Given the description of an element on the screen output the (x, y) to click on. 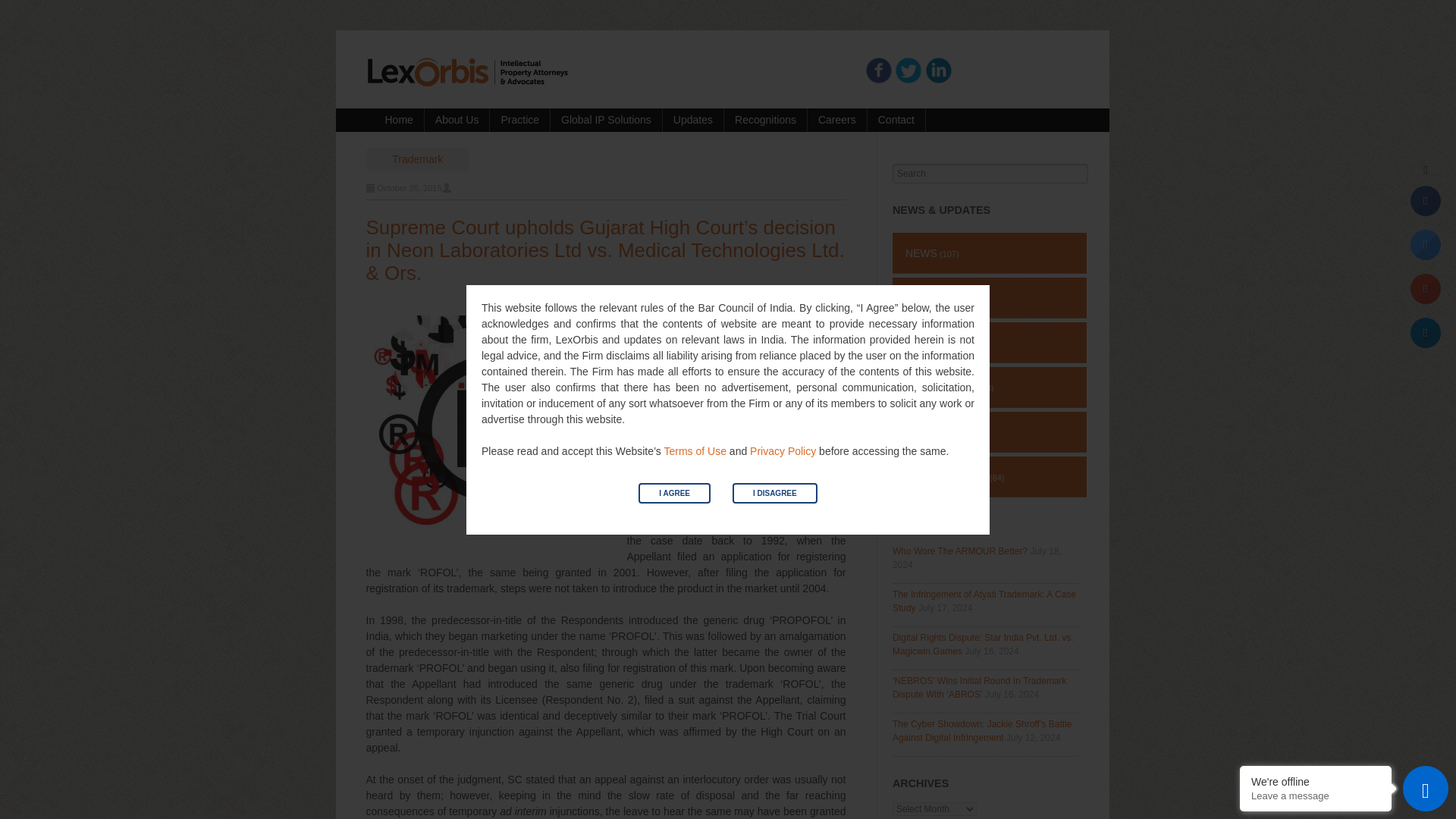
Leave a message (1315, 795)
I DISAGREE (774, 492)
Practice (519, 119)
Home (398, 119)
LexOrbis (466, 70)
We're offline (1315, 781)
Terms of Use (694, 450)
Privacy Policy (782, 450)
Global IP Solutions (606, 119)
About Us (457, 119)
